Given the description of an element on the screen output the (x, y) to click on. 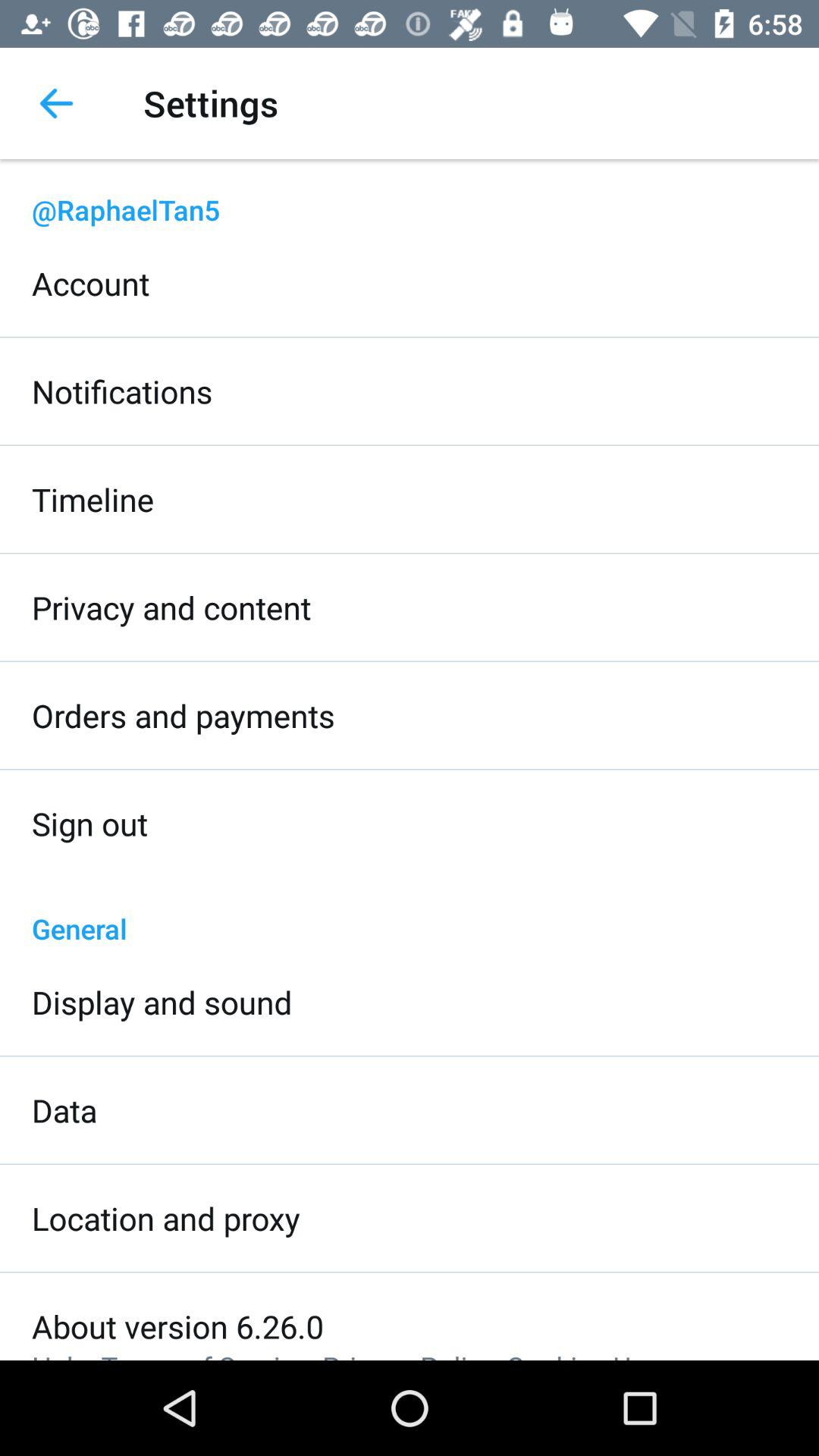
launch item below the sign out icon (409, 912)
